Given the description of an element on the screen output the (x, y) to click on. 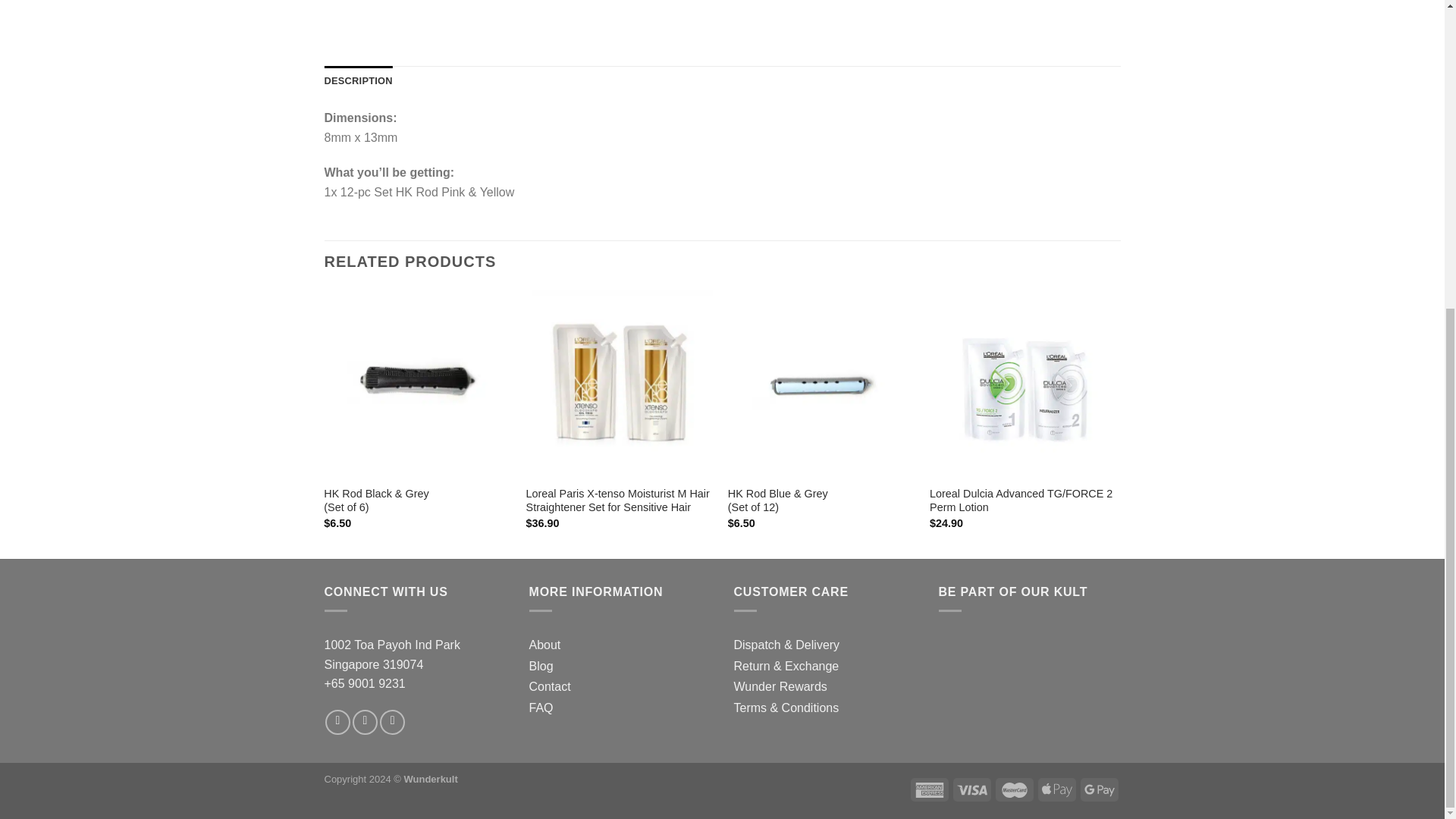
Follow on Instagram (364, 722)
Follow on Facebook (337, 722)
Send us an email (392, 722)
